Given the description of an element on the screen output the (x, y) to click on. 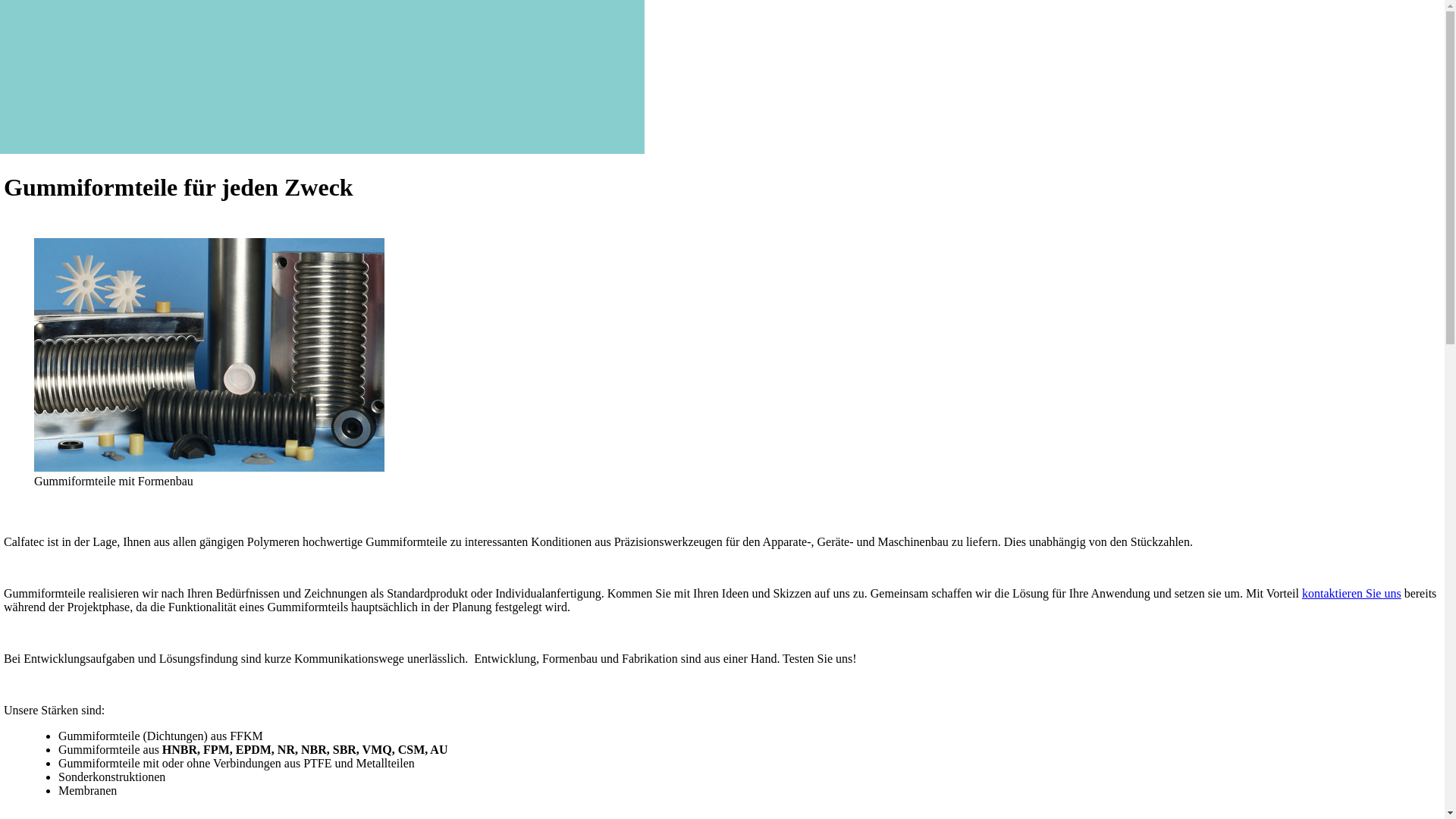
kontaktieren Sie uns Element type: text (1351, 592)
